Given the description of an element on the screen output the (x, y) to click on. 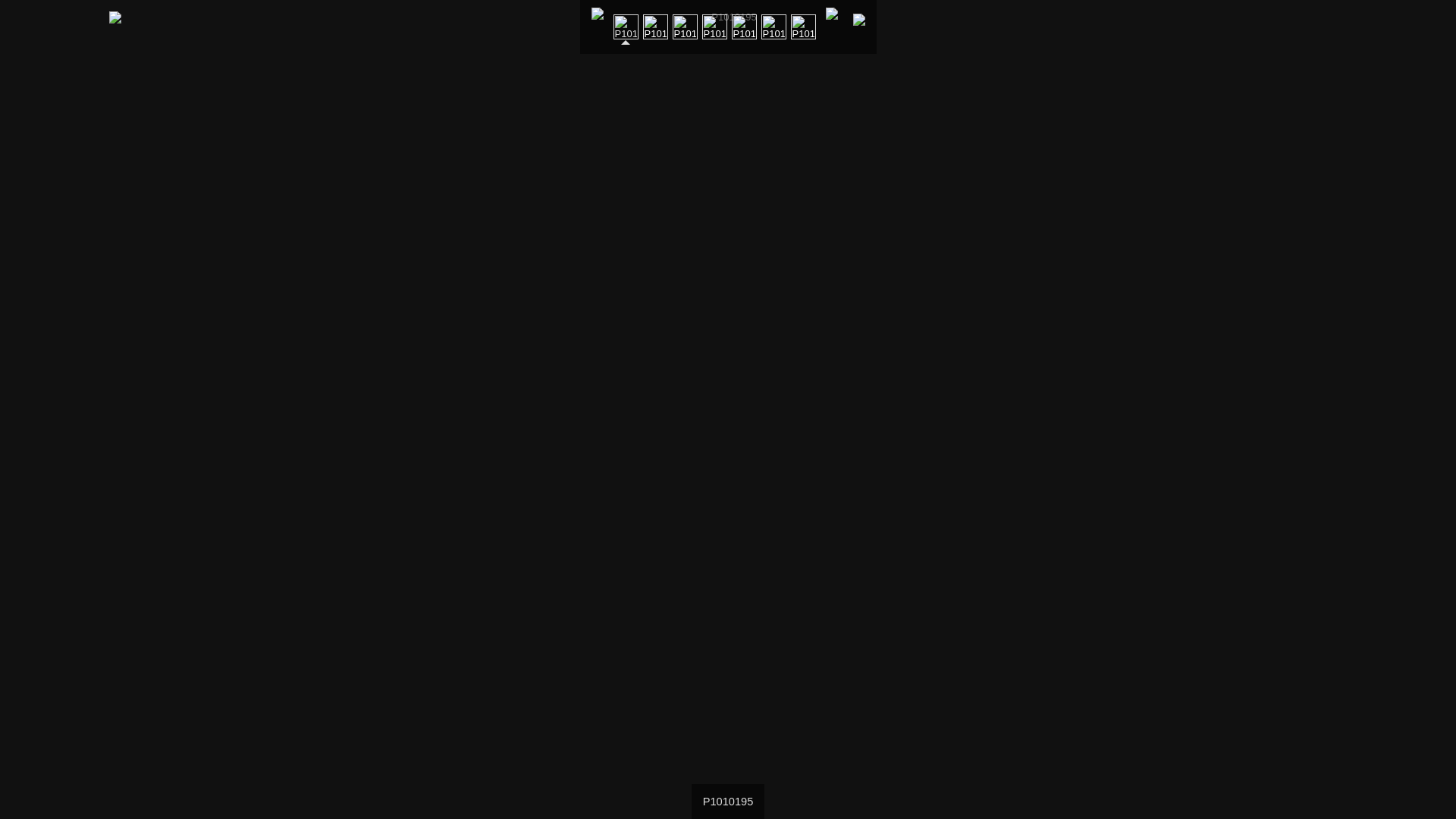
P1010090 Element type: hover (743, 26)
P1010074 Element type: hover (683, 26)
P1010069 Element type: hover (802, 26)
Next page Element type: hover (858, 27)
To index page Element type: hover (597, 26)
P1010075 Element type: hover (714, 26)
At first page Element type: hover (830, 26)
P1010071 Element type: hover (773, 26)
P1010072 Element type: hover (655, 26)
